Given the description of an element on the screen output the (x, y) to click on. 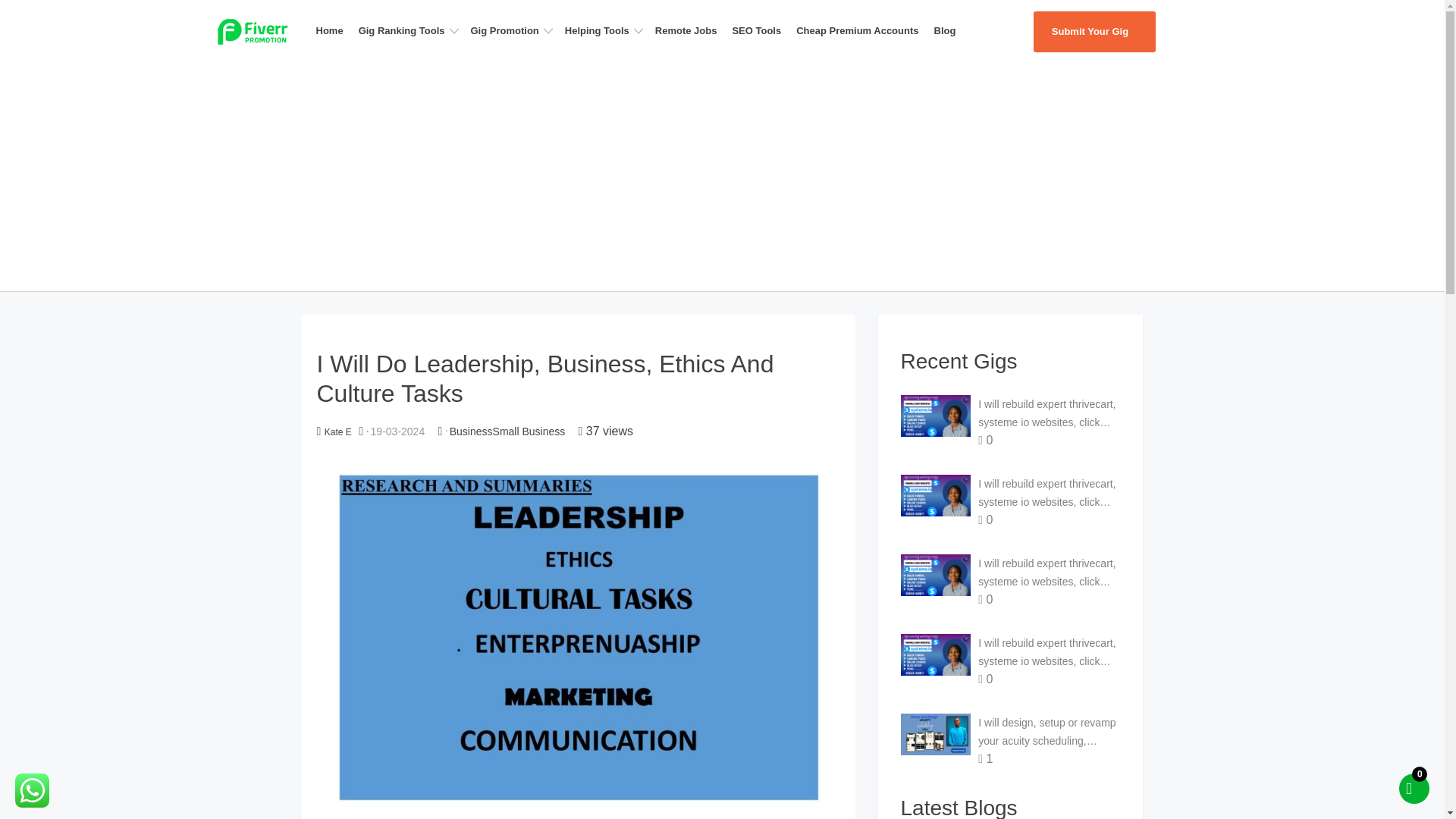
Home (334, 30)
19-03-2024 (398, 430)
Submit Your Gig (1094, 31)
Gig Promotion (513, 30)
Remote Jobs (690, 30)
Blog (949, 30)
Helping Tools (607, 30)
Cheap Premium Accounts (861, 30)
SEO Tools (761, 30)
Gig Ranking Tools (411, 30)
